Given the description of an element on the screen output the (x, y) to click on. 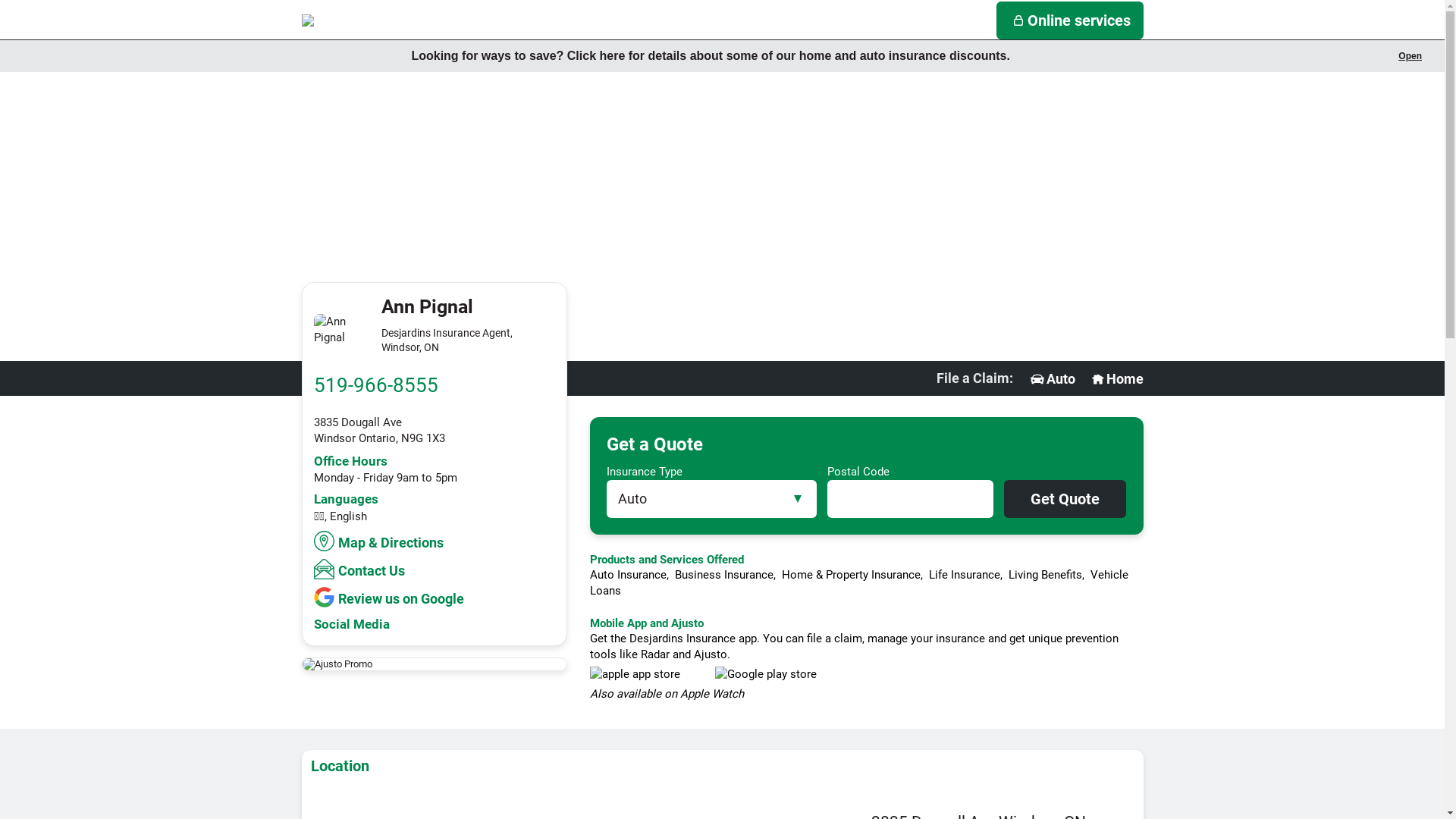
Get Quote Element type: text (1065, 498)
Navigate to Desjardins Insurance Element type: hover (377, 20)
Online services Element type: text (1069, 20)
Home Element type: text (1115, 378)
Review us on Google Element type: text (390, 596)
Auto Element type: text (1051, 378)
519-966-8555 Element type: text (375, 384)
Contact Us Element type: text (360, 568)
Map & Directions Element type: text (380, 540)
Open Element type: text (1409, 55)
